Given the description of an element on the screen output the (x, y) to click on. 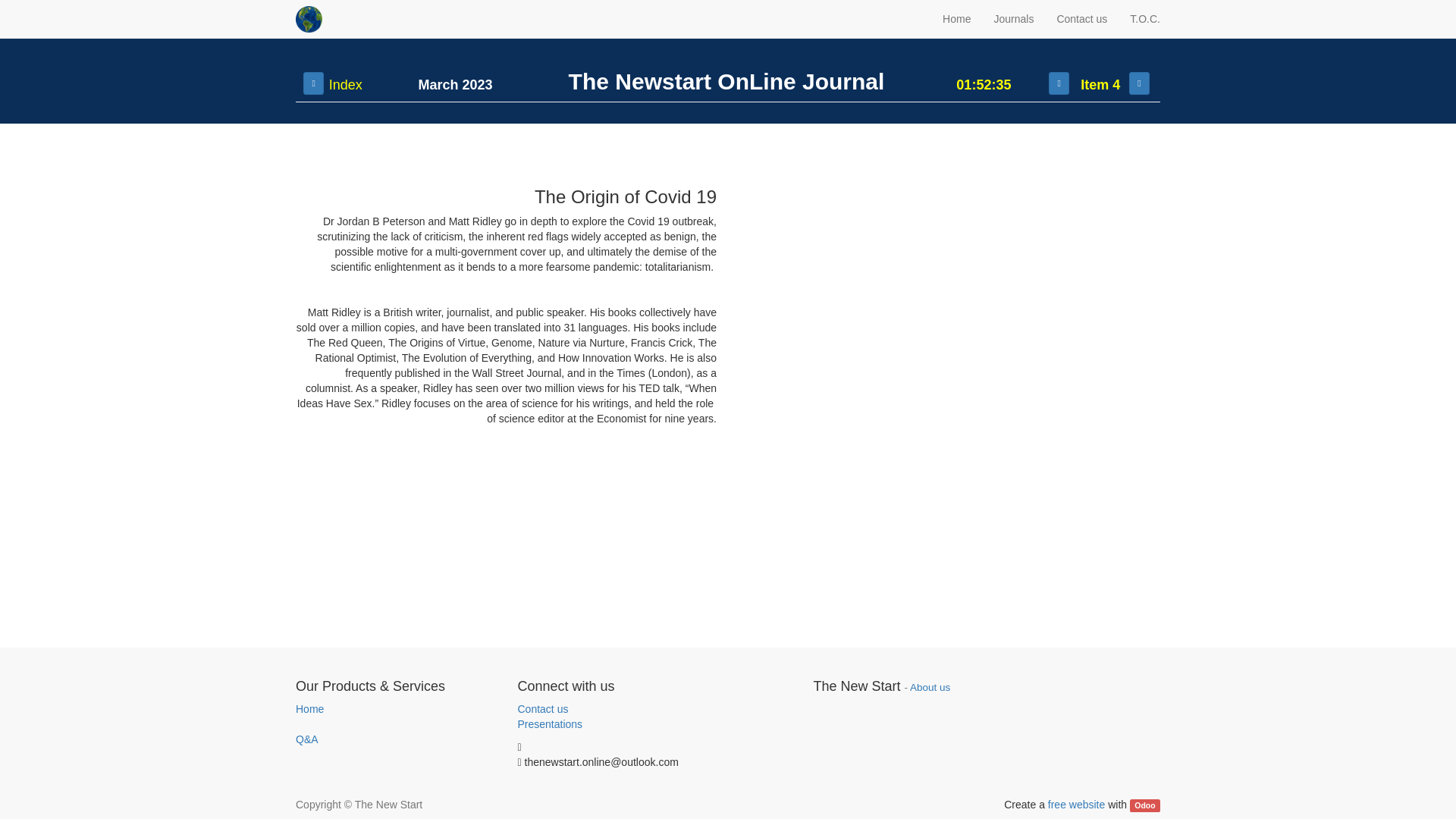
Home (956, 18)
Presentations (549, 724)
Home (309, 708)
About us (930, 686)
Contact us (541, 708)
Journals (1013, 18)
The New Start (308, 18)
T.O.C. (1145, 18)
Contact us (1081, 18)
Odoo (1144, 805)
